Given the description of an element on the screen output the (x, y) to click on. 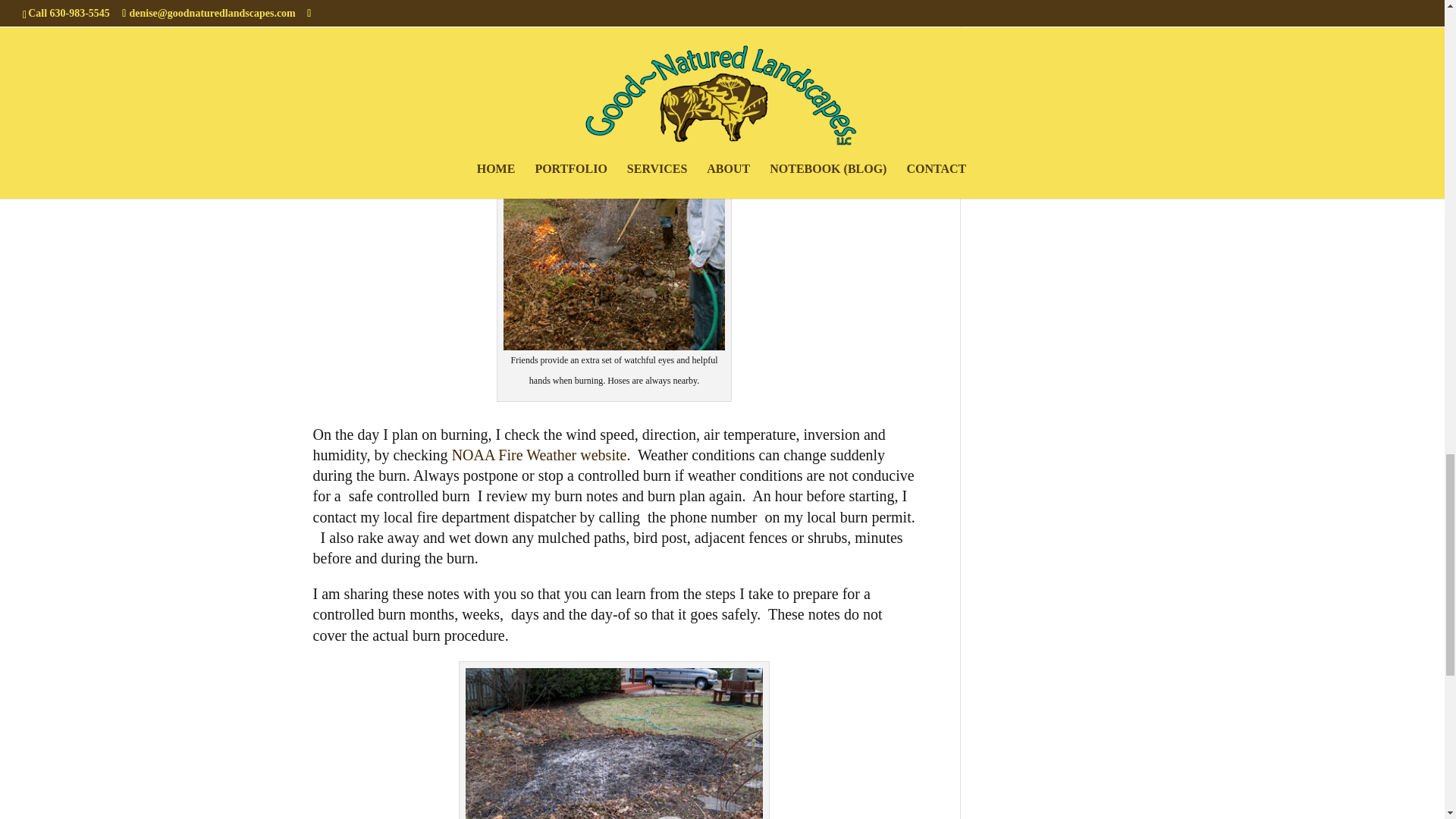
NOAA Fire Weather website (539, 454)
NOAA Fire Weather (539, 454)
